Given the description of an element on the screen output the (x, y) to click on. 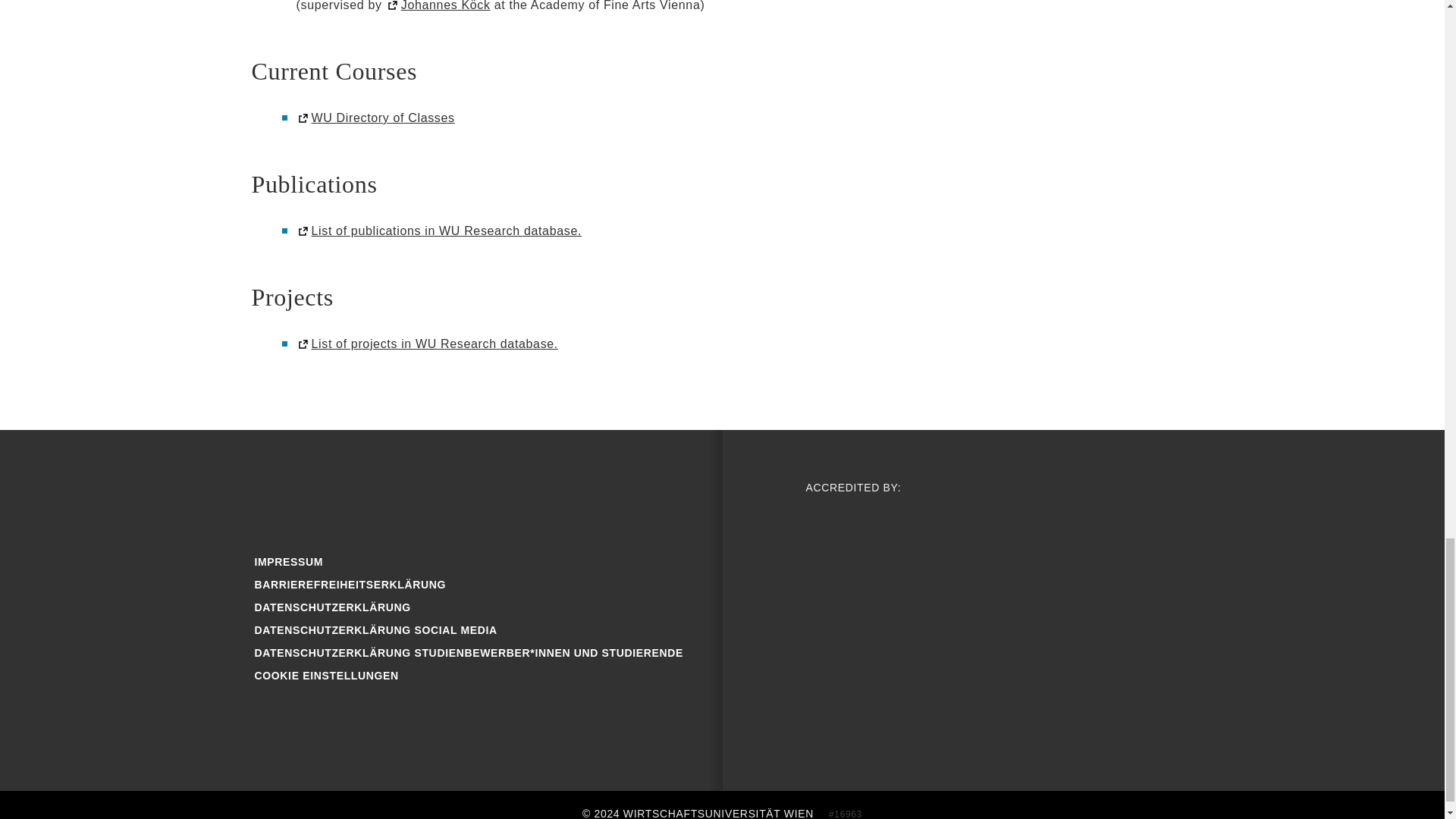
Instagram (324, 494)
YouTube (423, 494)
Newsletter (572, 494)
Facebook (276, 494)
X (473, 494)
Blog (374, 494)
LinkedIn (521, 494)
